Given the description of an element on the screen output the (x, y) to click on. 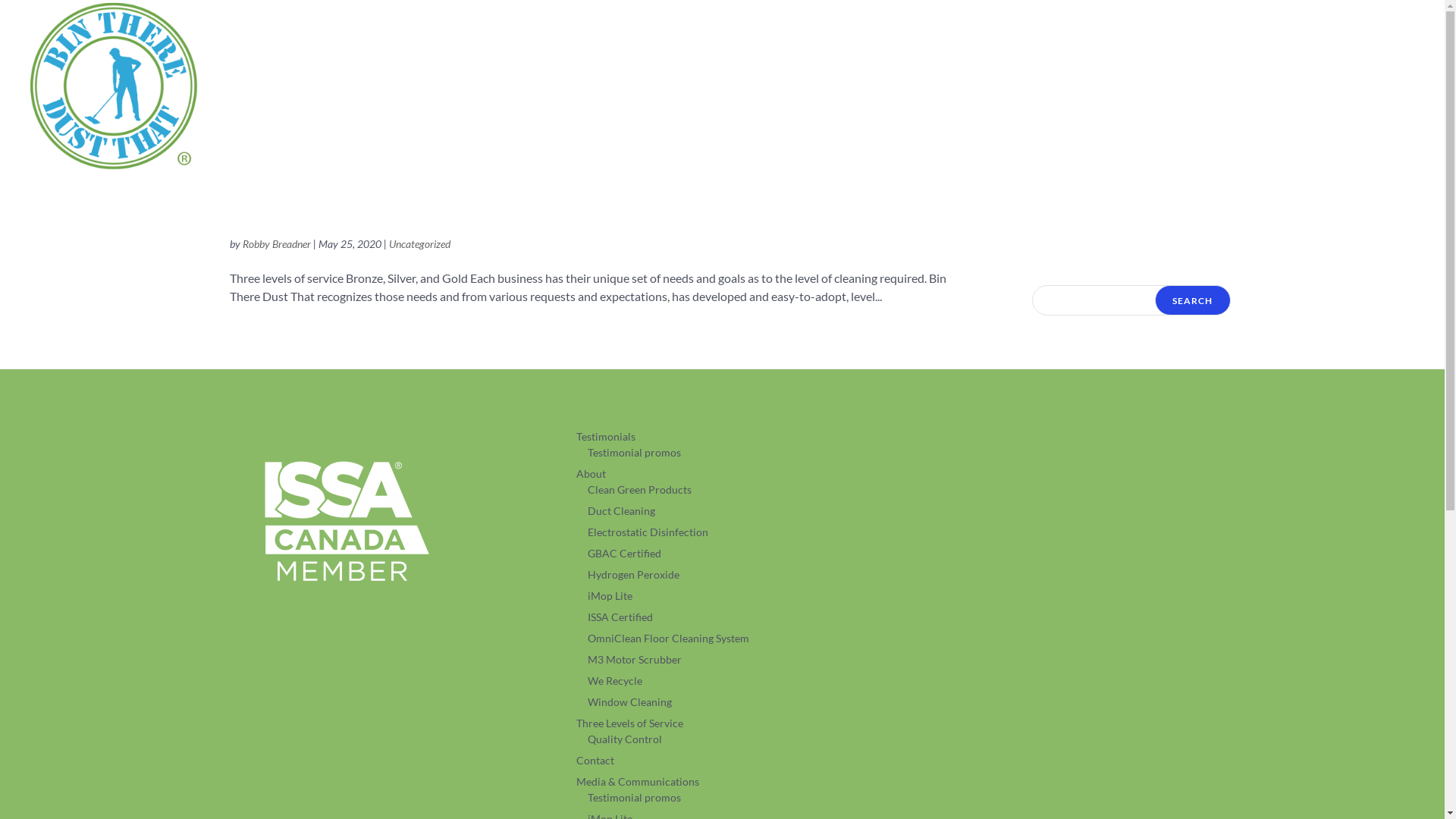
Electrostatic Disinfection Element type: text (647, 531)
We Recycle Element type: text (614, 680)
iMop Lite Element type: text (609, 595)
MEDIA & COMMUNICATIONS Element type: text (1315, 89)
Testimonials Element type: text (605, 435)
About Element type: text (590, 473)
Clean Green Products Element type: text (639, 489)
TESTIMONIALS Element type: text (776, 89)
OmniClean Floor Cleaning System Element type: text (668, 637)
Three Levels of Service Element type: text (629, 722)
ABOUT Element type: text (877, 89)
Robby Breadner Element type: text (276, 243)
Hydrogen Peroxide Element type: text (633, 573)
M3 Motor Scrubber Element type: text (634, 658)
THREE LEVELS OF SERVICE Element type: text (1016, 89)
Quality Control Element type: text (624, 738)
Media & Communications Element type: text (637, 781)
Search Element type: text (1192, 300)
Testimonial promos Element type: text (633, 796)
GBAC Certified Element type: text (624, 552)
Duct Cleaning Element type: text (621, 510)
CONTACT Element type: text (1163, 89)
Testimonial promos Element type: text (633, 451)
Window Cleaning Element type: text (629, 701)
Uncategorized Element type: text (418, 243)
ISSA Certified Element type: text (619, 616)
Contact Element type: text (595, 759)
